Given the description of an element on the screen output the (x, y) to click on. 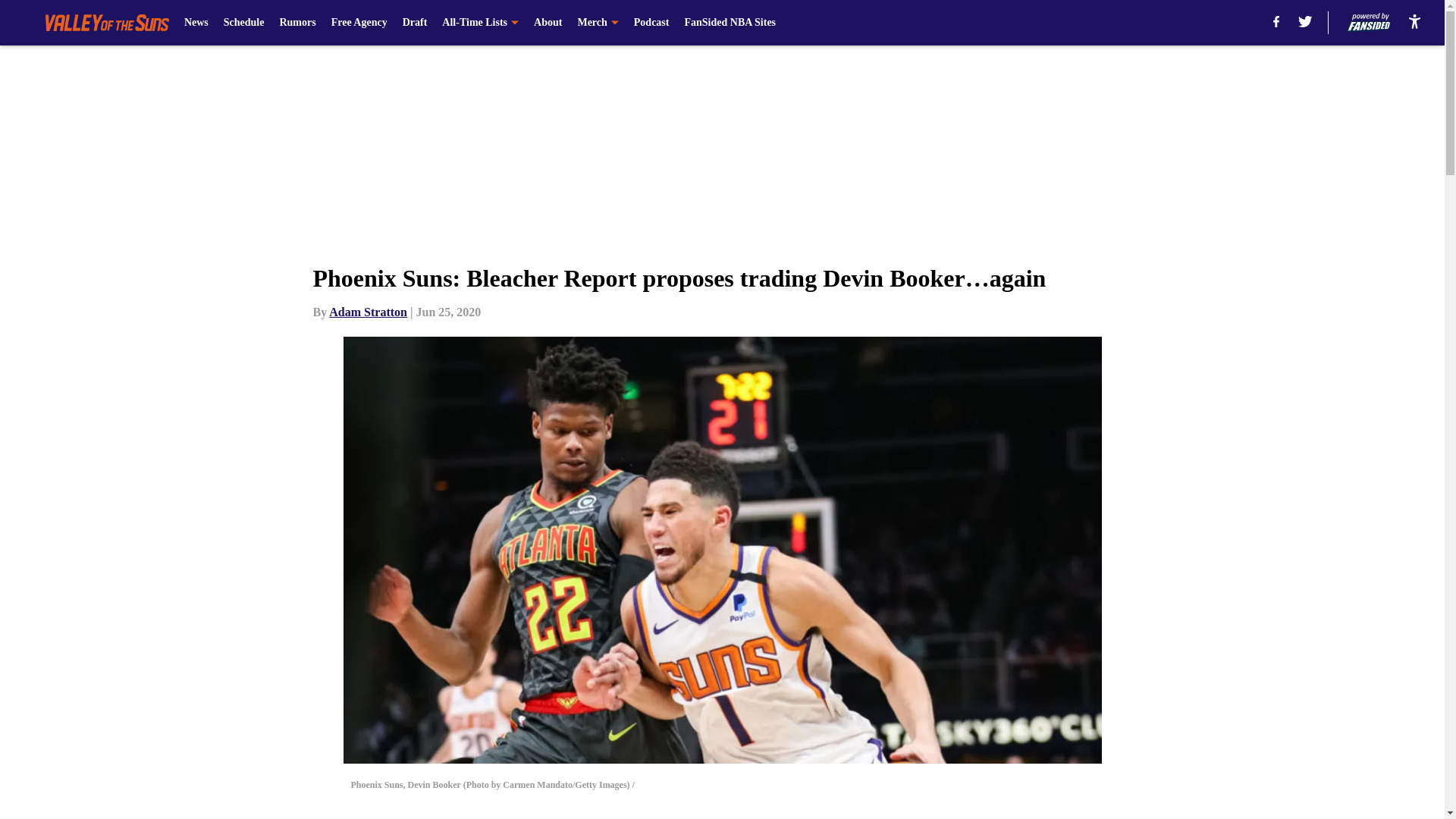
Schedule (244, 22)
FanSided NBA Sites (730, 22)
Adam Stratton (368, 311)
About (548, 22)
All-Time Lists (480, 22)
Free Agency (359, 22)
News (196, 22)
Draft (415, 22)
Podcast (651, 22)
Rumors (297, 22)
